Given the description of an element on the screen output the (x, y) to click on. 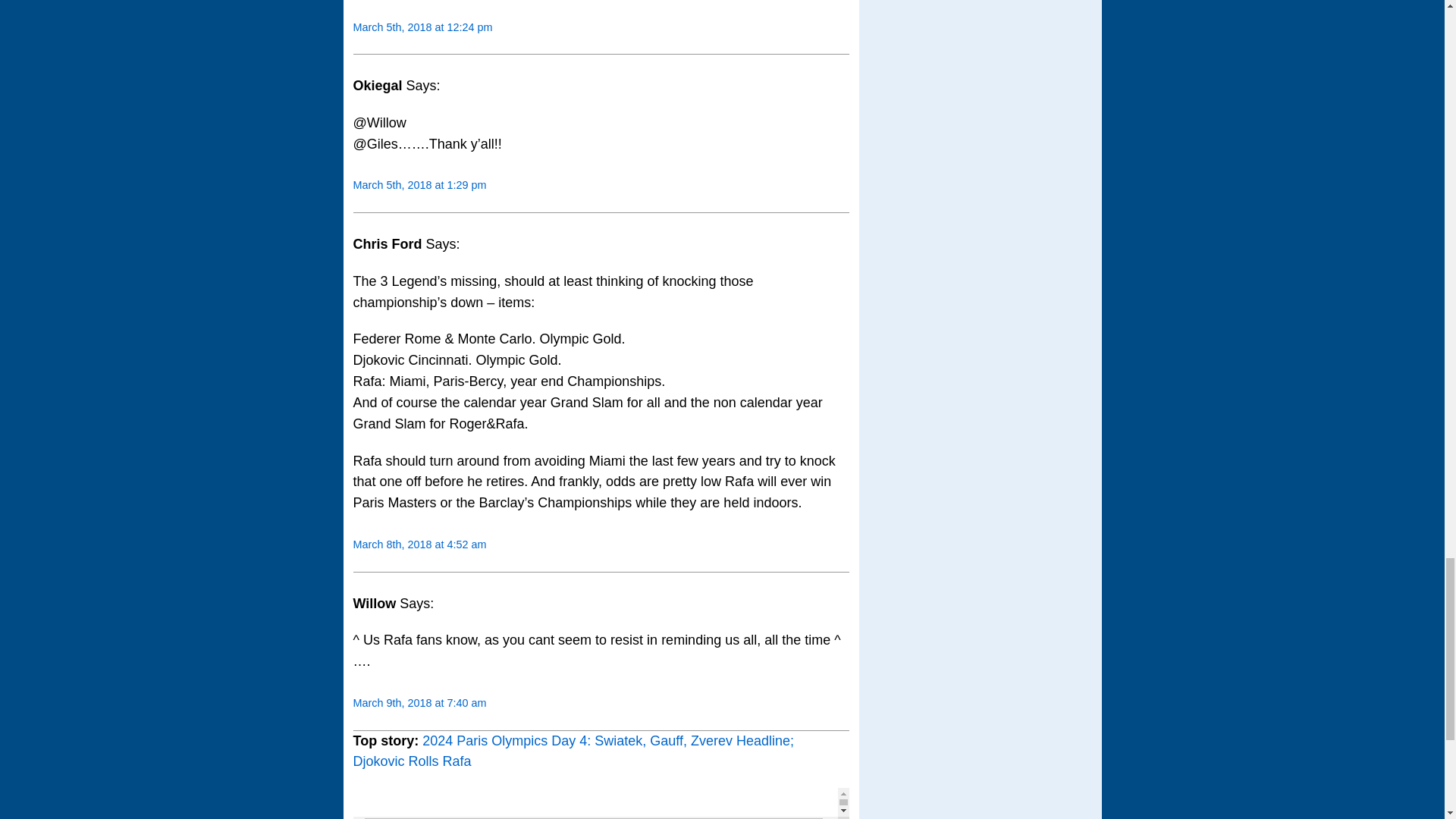
March 8th, 2018 at 4:52 am (419, 544)
March 9th, 2018 at 7:40 am (419, 702)
March 5th, 2018 at 12:24 pm (423, 27)
March 5th, 2018 at 1:29 pm (419, 184)
